Given the description of an element on the screen output the (x, y) to click on. 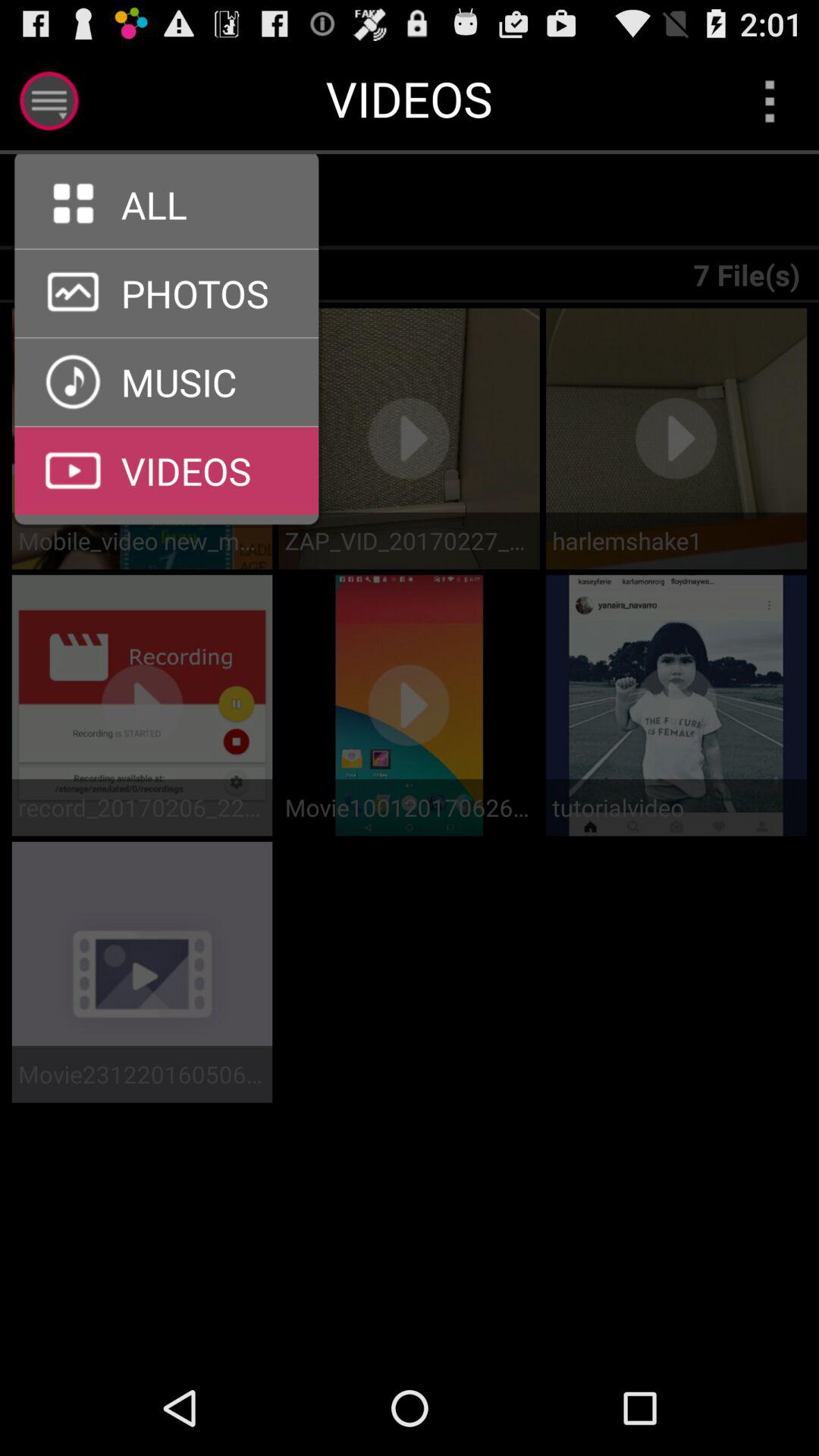
select the option (48, 100)
